Given the description of an element on the screen output the (x, y) to click on. 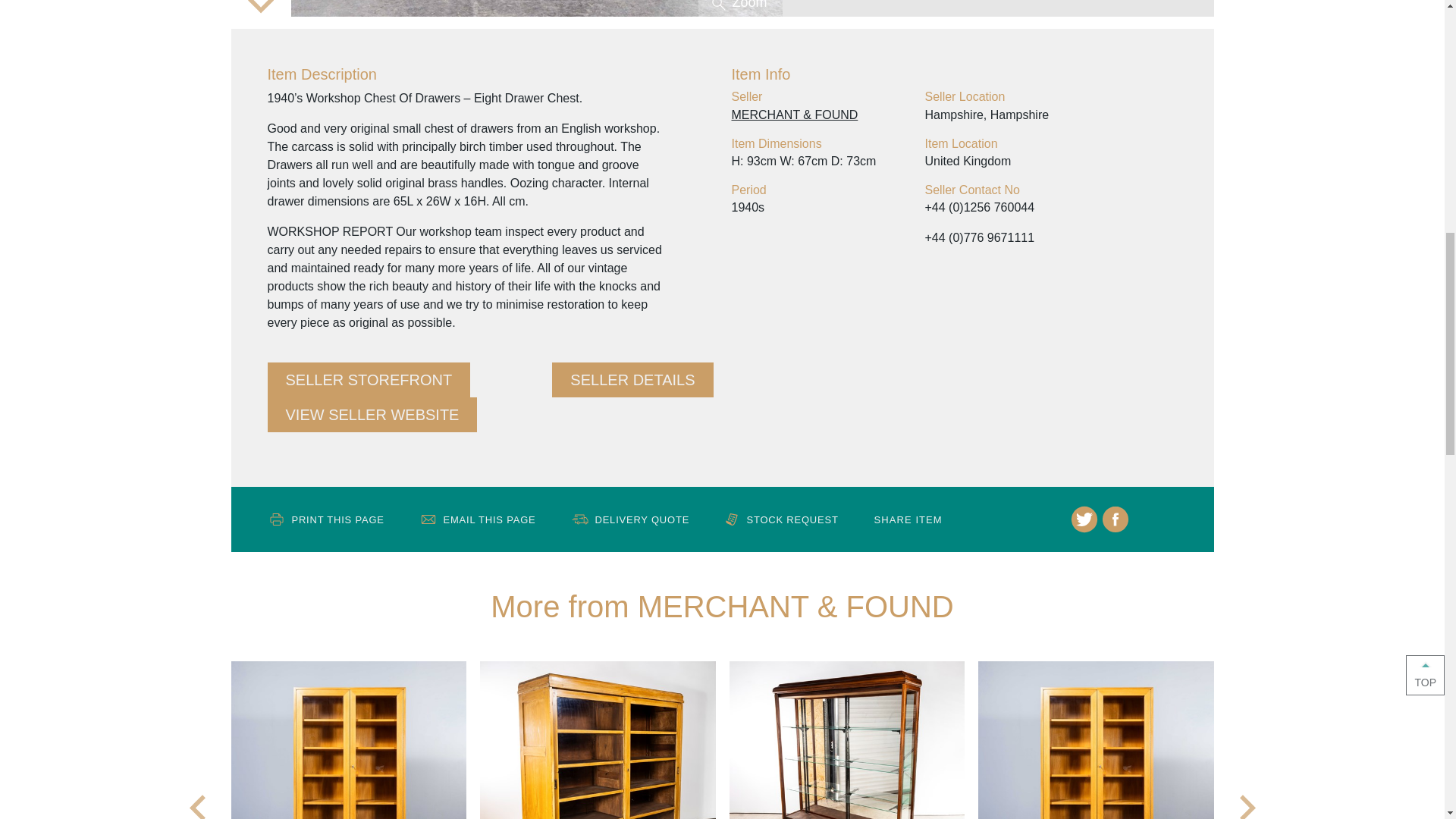
Twitter (1083, 519)
Facebook (1114, 519)
